Given the description of an element on the screen output the (x, y) to click on. 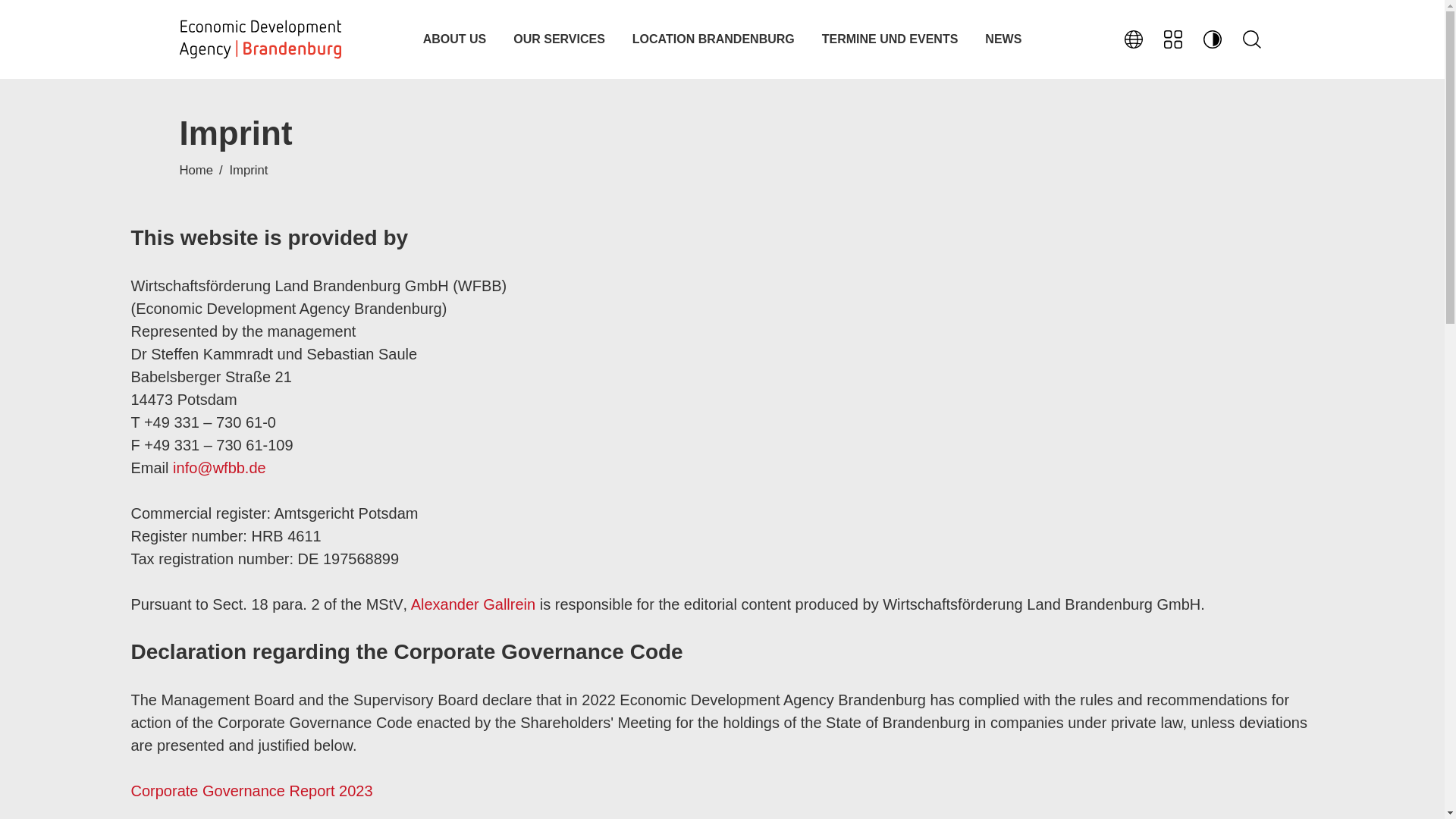
OUR SERVICES (558, 38)
ABOUT US (454, 38)
LOCATION BRANDENBURG (713, 38)
Skip to main content (721, 1)
Home (259, 38)
